Given the description of an element on the screen output the (x, y) to click on. 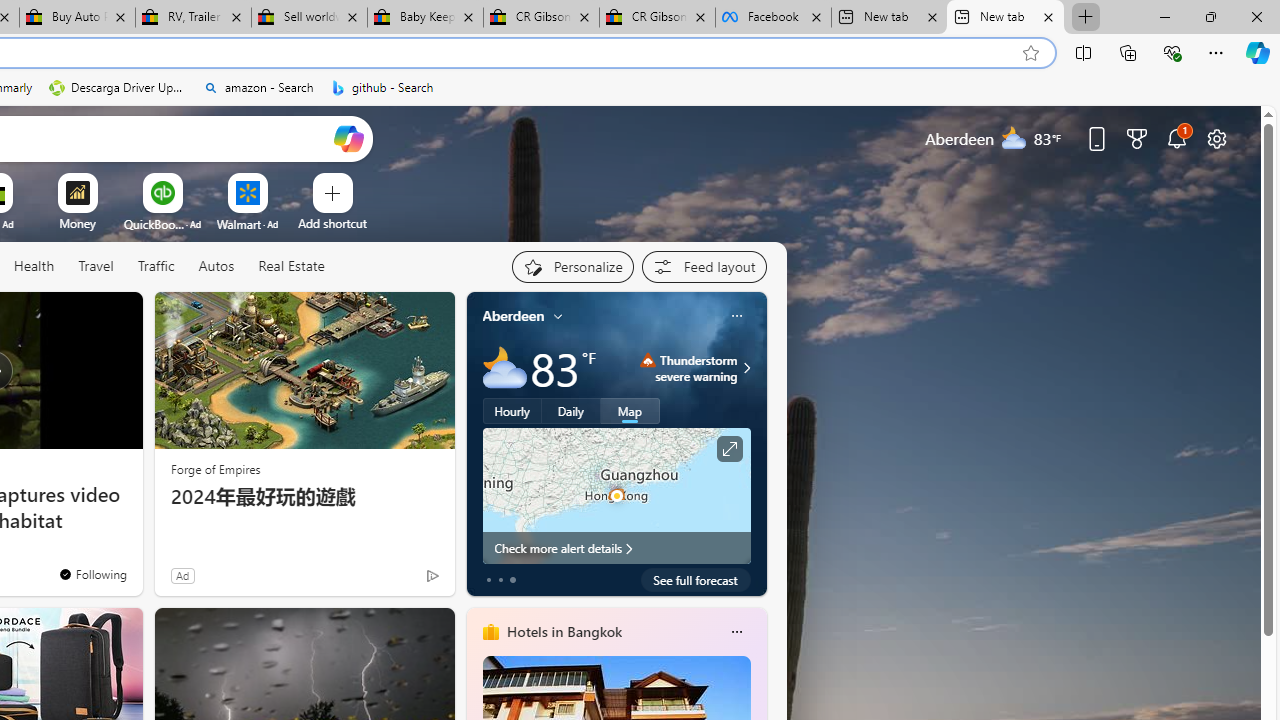
hotels-header-icon (490, 632)
Mostly cloudy (504, 368)
My location (558, 315)
Aberdeen (513, 315)
Autos (215, 265)
RV, Trailer & Camper Steps & Ladders for sale | eBay (192, 17)
Real Estate (291, 265)
Hotels in Bangkok (563, 631)
Thunderstorm - Severe (648, 359)
